Given the description of an element on the screen output the (x, y) to click on. 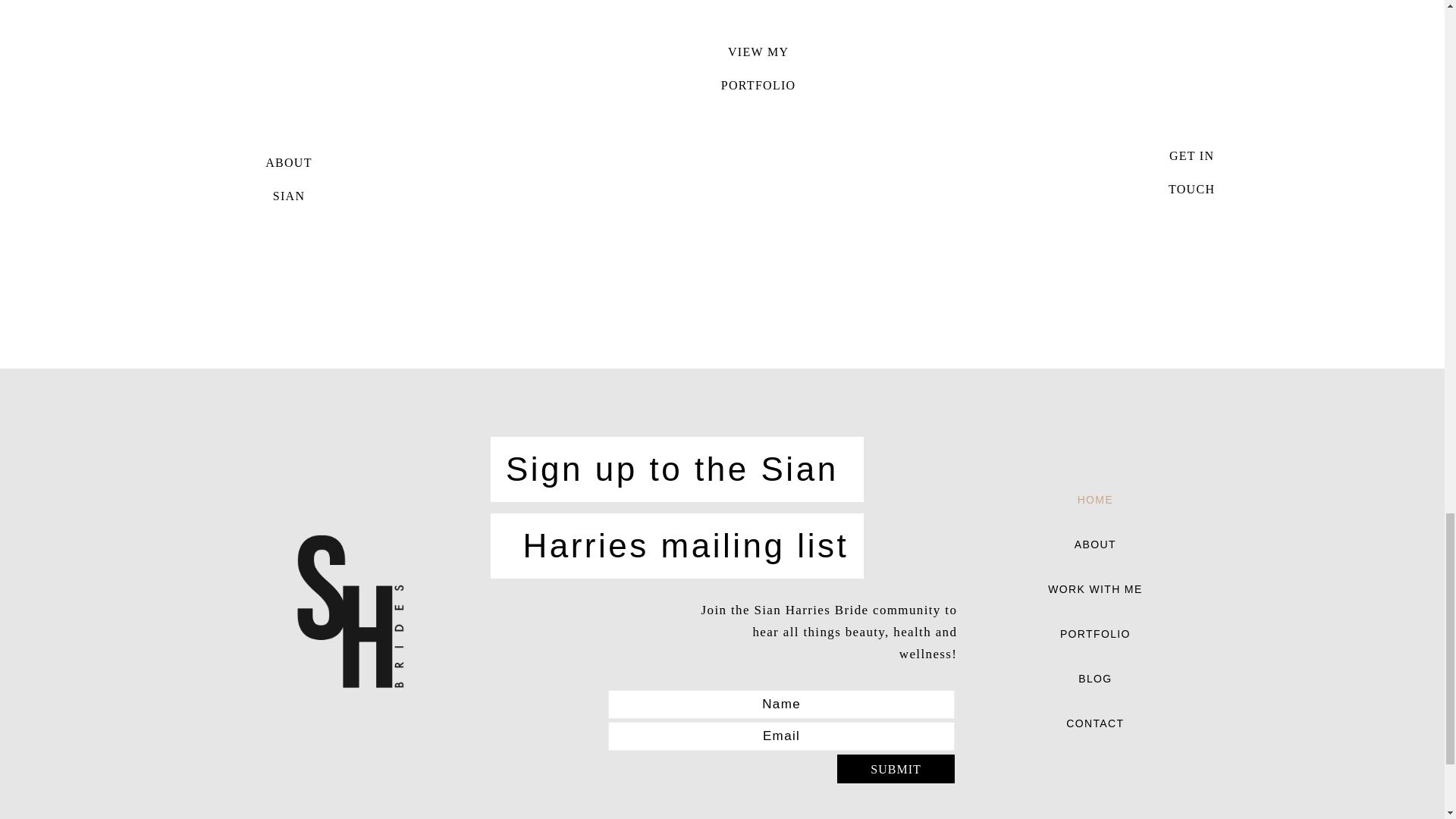
WORK WITH ME (1094, 589)
ABOUT (289, 179)
BLOG (1094, 544)
HOME (1094, 678)
CONTACT (1094, 499)
SHsubmark (1094, 723)
PORTFOLIO (350, 610)
SUBMIT (1094, 633)
